Given the description of an element on the screen output the (x, y) to click on. 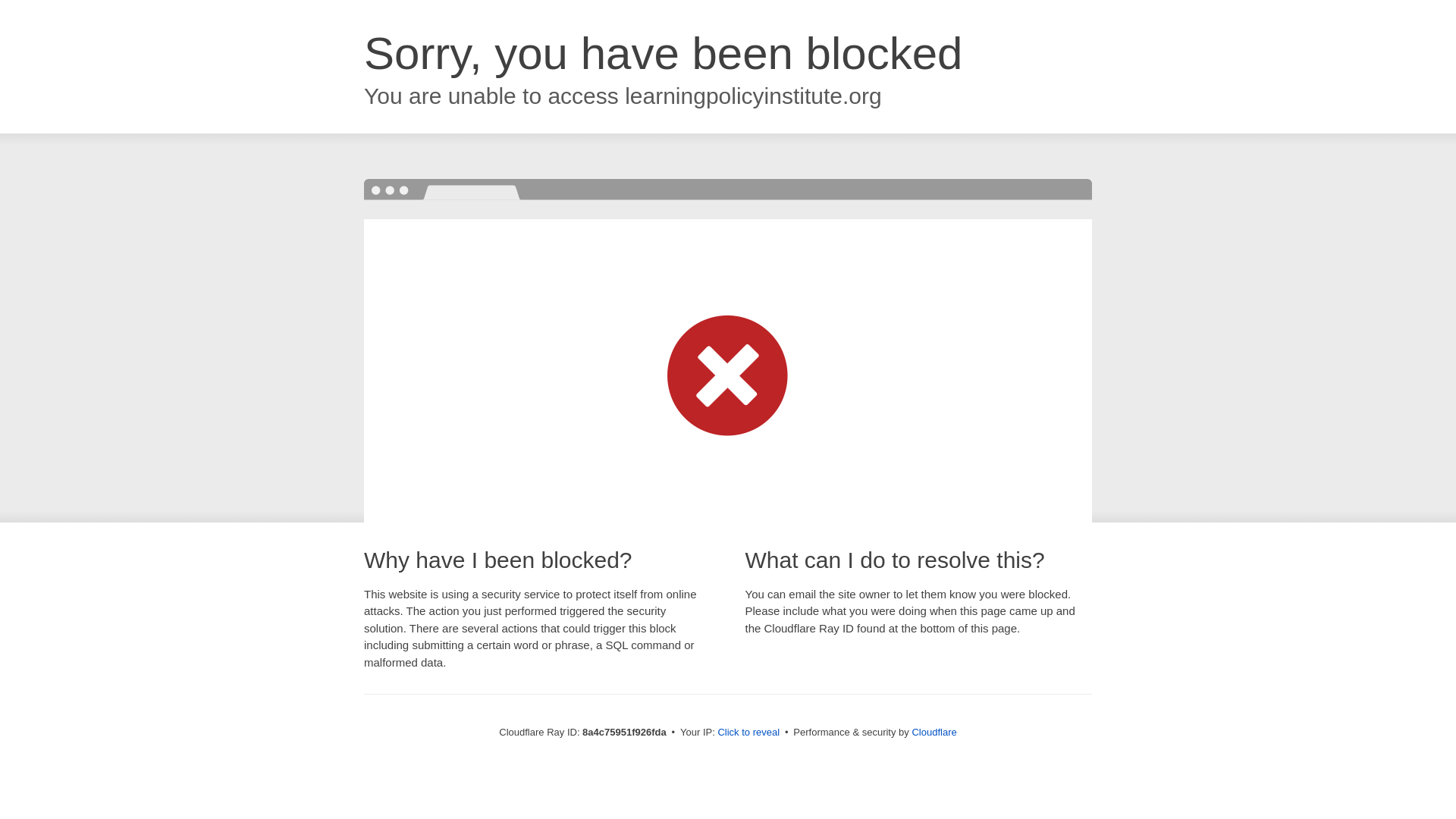
Cloudflare (933, 731)
Click to reveal (747, 732)
